Given the description of an element on the screen output the (x, y) to click on. 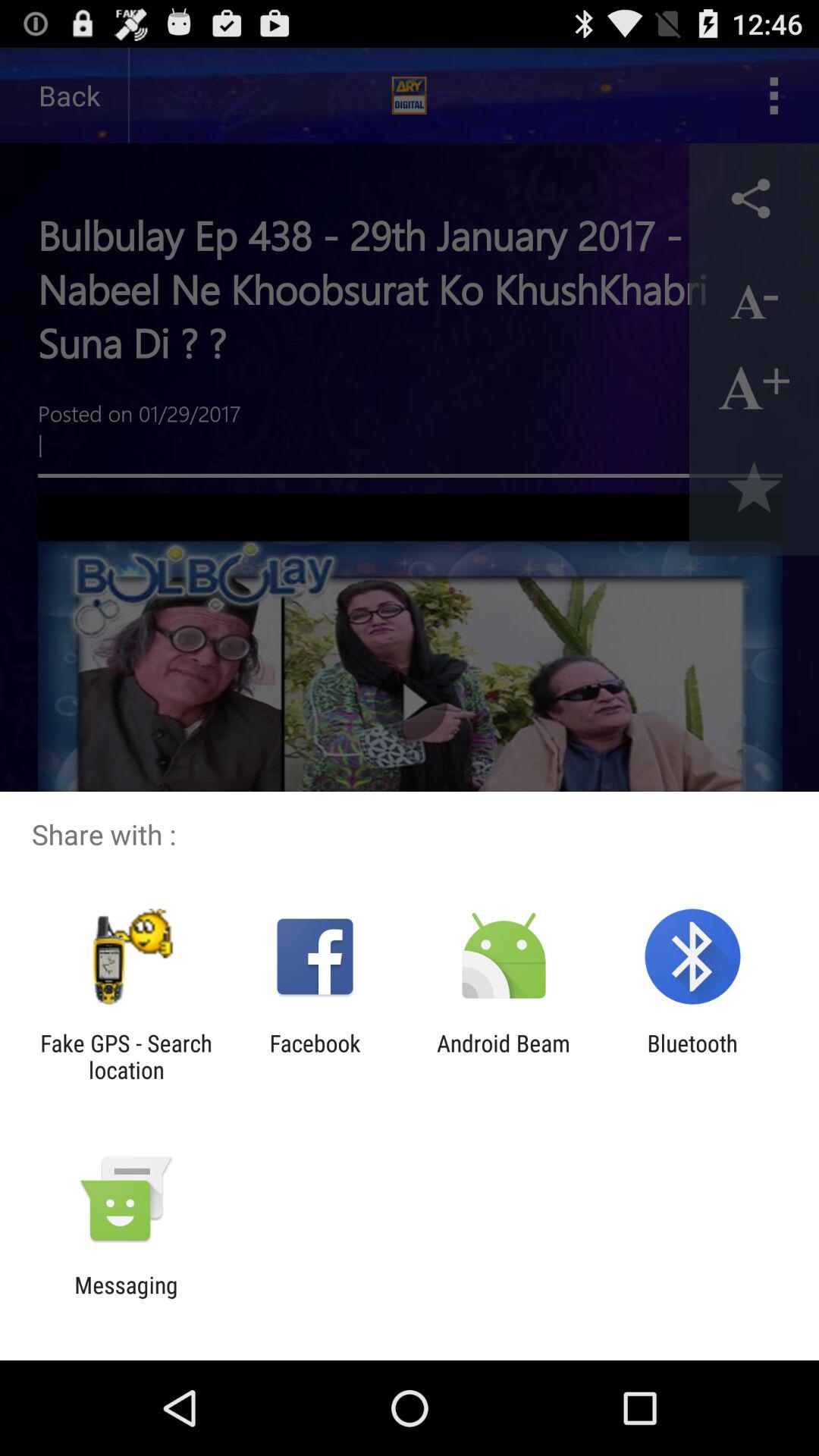
open fake gps search item (125, 1056)
